Given the description of an element on the screen output the (x, y) to click on. 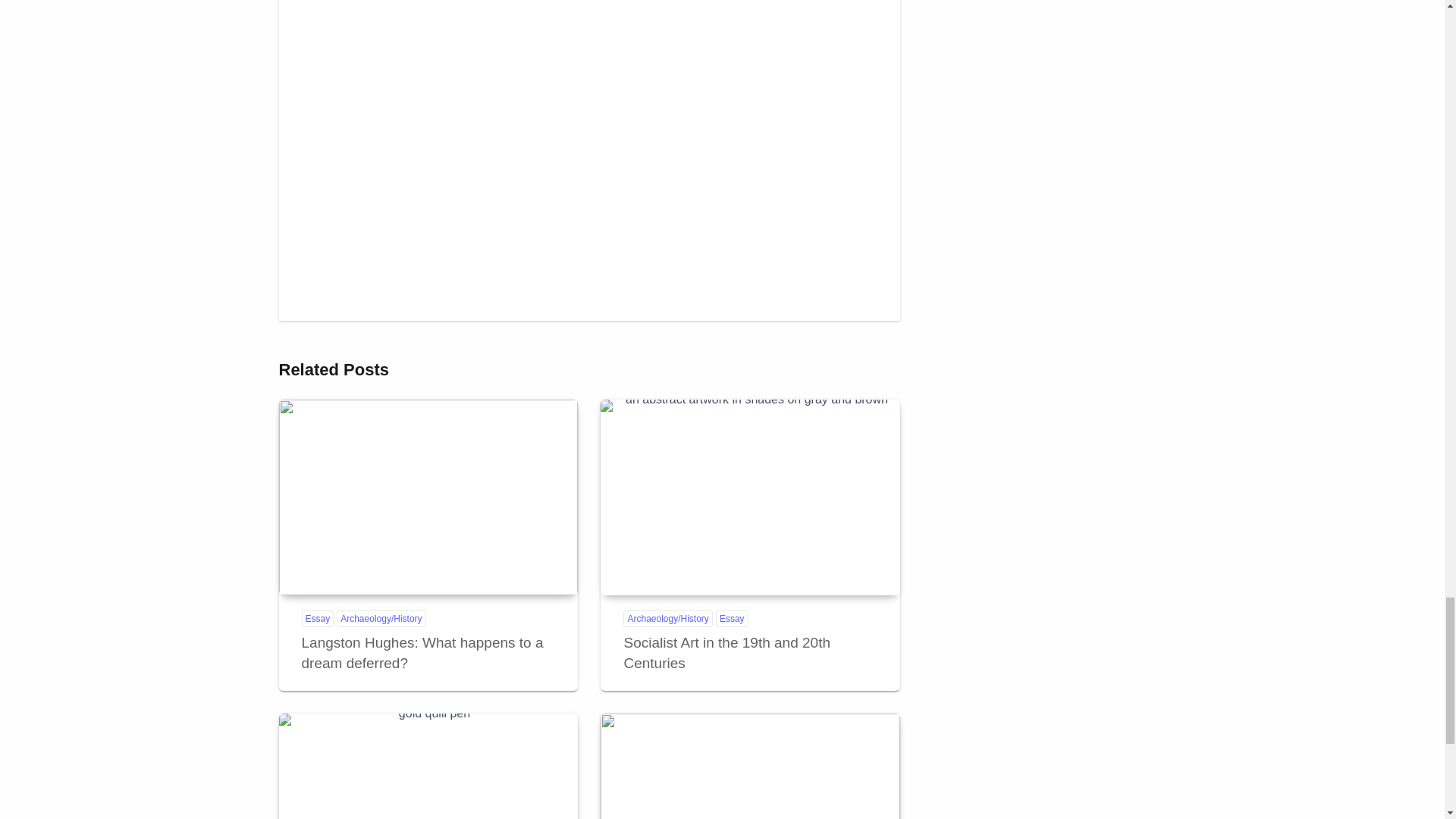
Essay (732, 618)
Langston Hughes: What happens to a dream deferred? (422, 652)
Essay (317, 618)
Socialist Art in the 19th and 20th Centuries (749, 497)
Langston Hughes: What happens to a dream deferred? (428, 497)
Socialist Art in the 19th and 20th Centuries (726, 652)
